Given the description of an element on the screen output the (x, y) to click on. 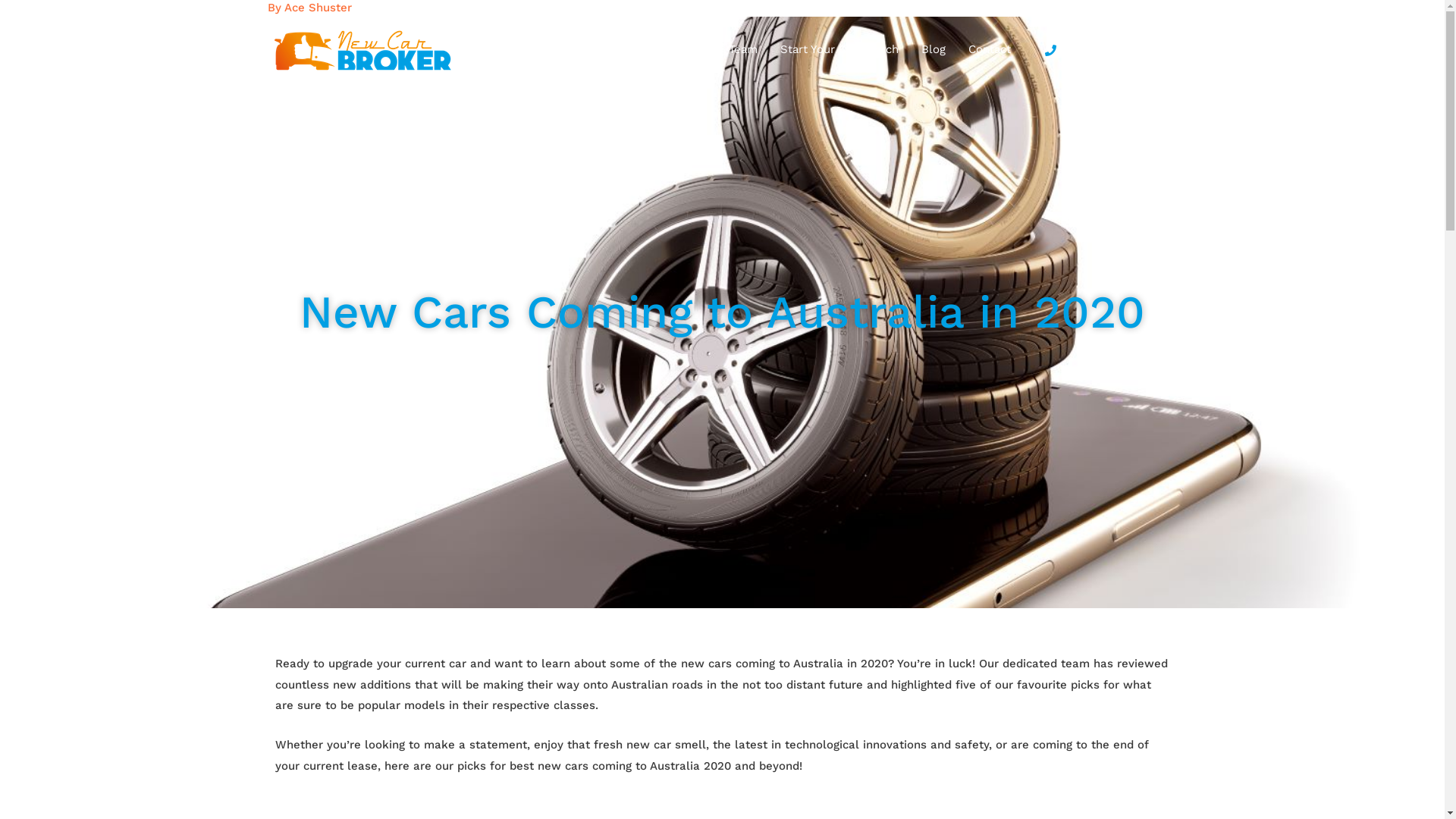
Our Team Element type: text (730, 49)
Contact Element type: text (989, 49)
Services Element type: text (651, 49)
Start Your Car Search Element type: text (839, 49)
1300 378 387 Element type: text (1103, 49)
Ace Shuster Element type: text (317, 7)
Blog Element type: text (933, 49)
Home Element type: text (580, 49)
